Given the description of an element on the screen output the (x, y) to click on. 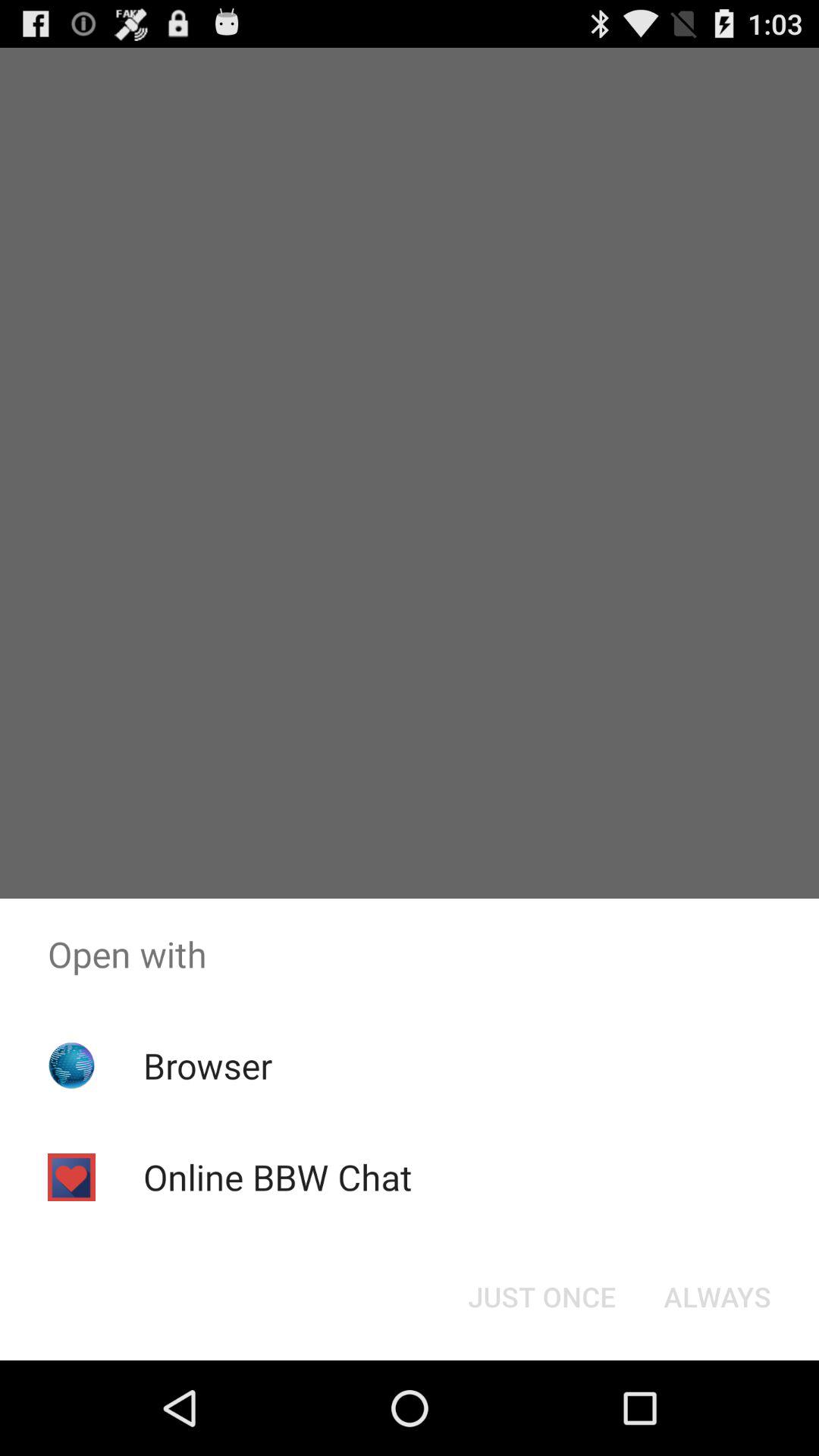
press icon next to the just once (717, 1296)
